Given the description of an element on the screen output the (x, y) to click on. 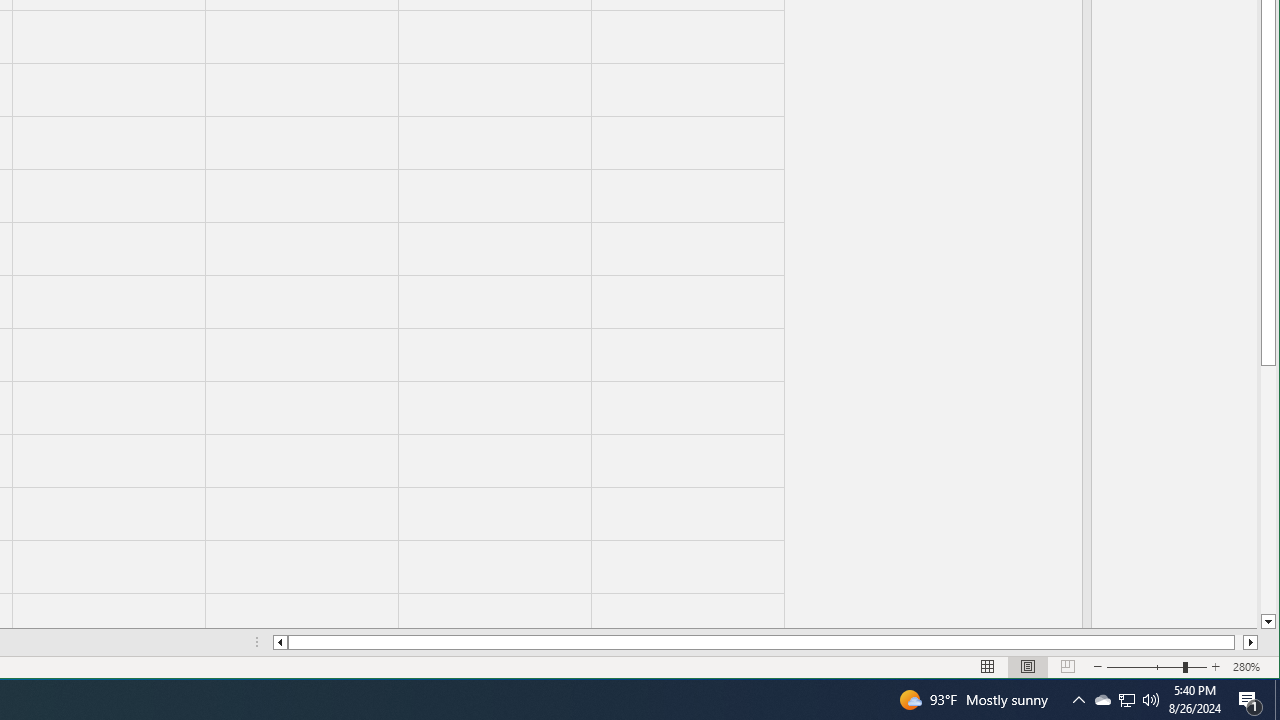
User Promoted Notification Area (1126, 699)
Notification Chevron (1102, 699)
Show desktop (1078, 699)
Q2790: 100% (1277, 699)
